Given the description of an element on the screen output the (x, y) to click on. 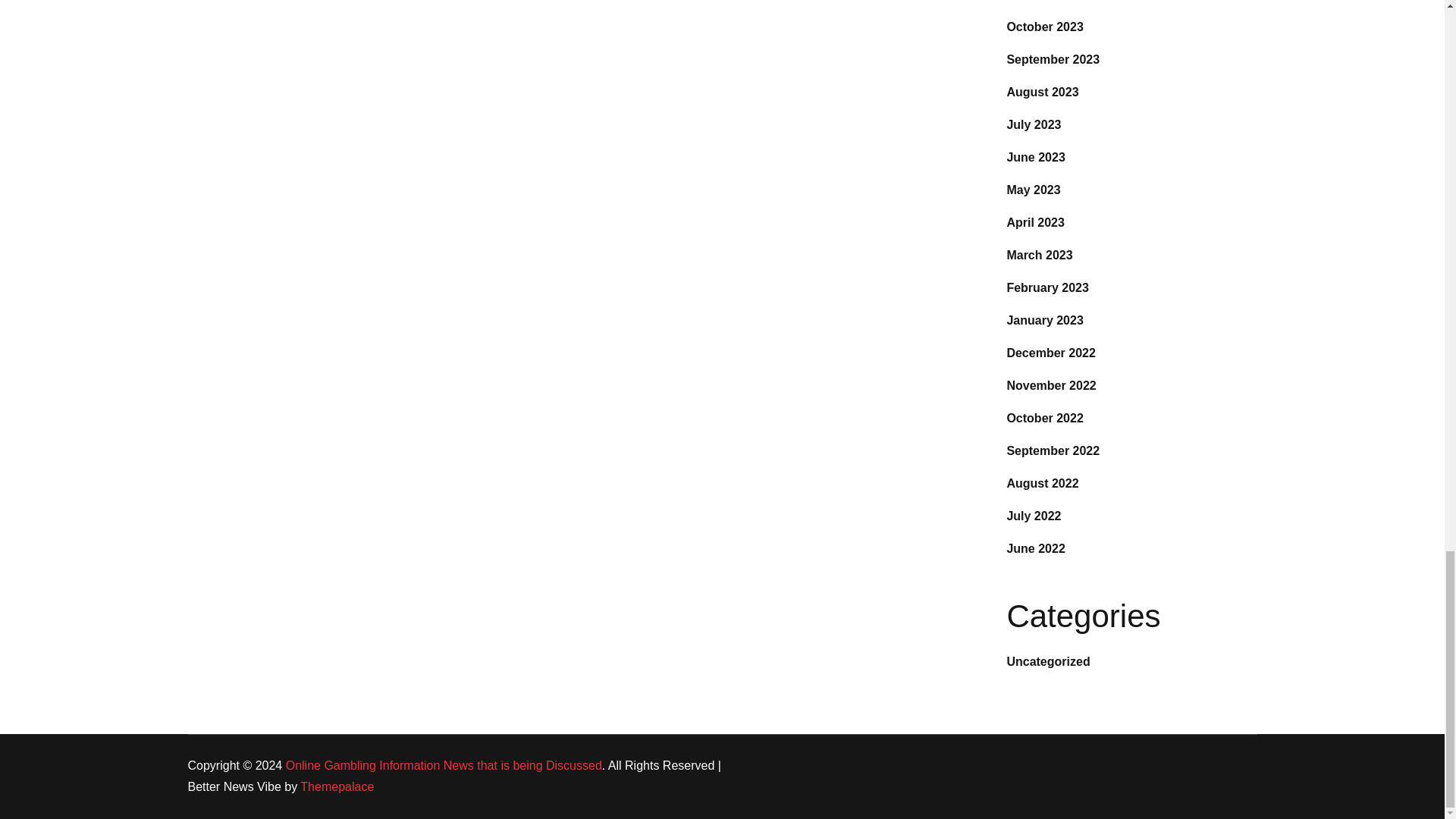
February 2023 (1047, 287)
May 2023 (1032, 189)
December 2022 (1050, 352)
June 2023 (1035, 156)
April 2023 (1035, 222)
October 2022 (1044, 418)
August 2023 (1042, 91)
October 2023 (1044, 26)
July 2023 (1033, 124)
January 2023 (1044, 319)
November 2022 (1051, 385)
March 2023 (1038, 254)
September 2023 (1052, 59)
